Given the description of an element on the screen output the (x, y) to click on. 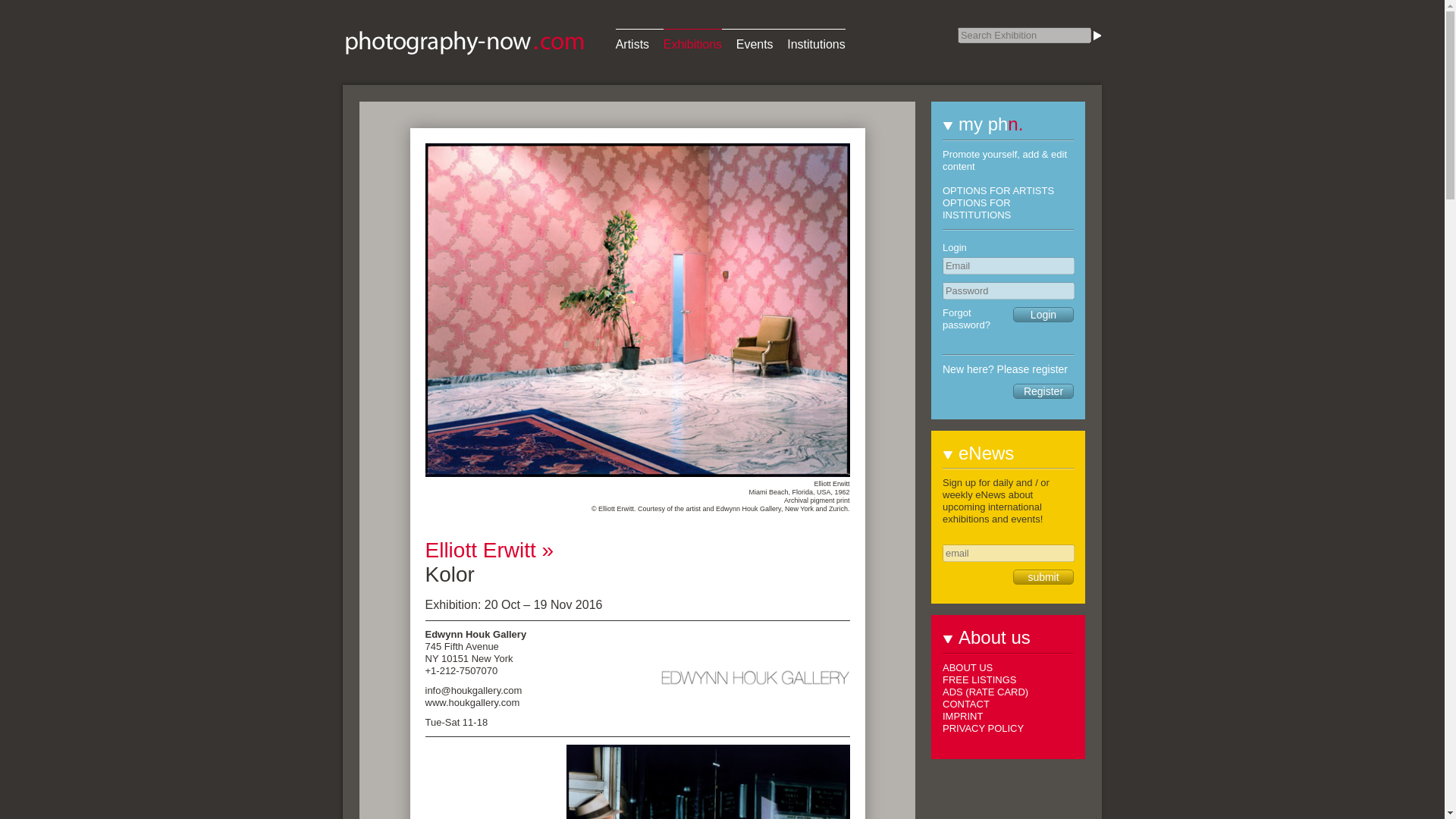
Institutions (815, 40)
Login (1043, 314)
photography now (464, 42)
www.houkgallery.com (472, 702)
Exhibitions (692, 40)
ABOUT US (967, 667)
submit (1043, 576)
FREE LISTINGS (979, 679)
Register (1043, 391)
